Given the description of an element on the screen output the (x, y) to click on. 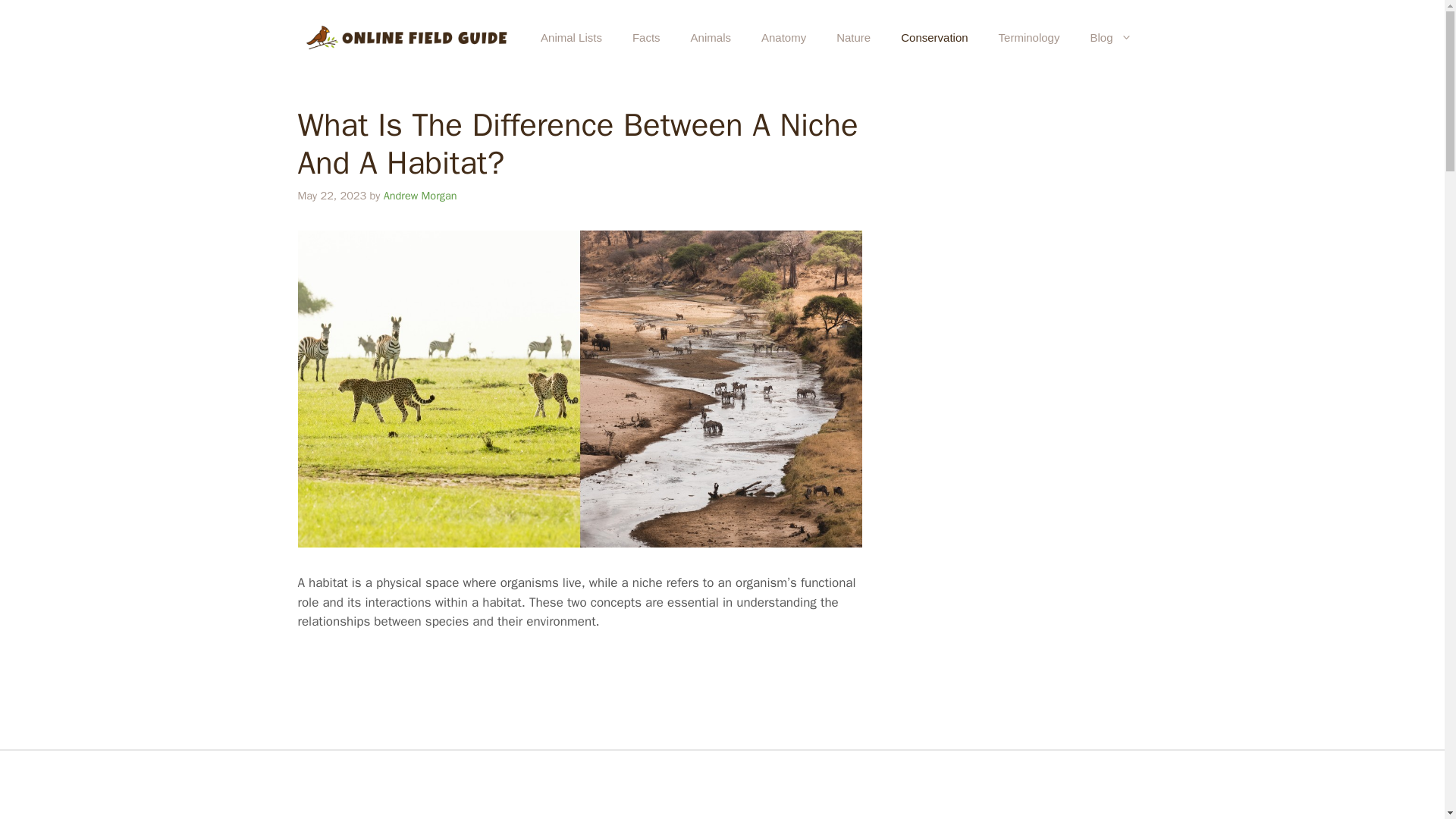
Andrew Morgan (420, 195)
Facts (646, 37)
Animal Lists (571, 37)
Anatomy (783, 37)
Blog (1110, 37)
View all posts by Andrew Morgan (420, 195)
Conservation (933, 37)
Nature (853, 37)
Animals (710, 37)
Terminology (1029, 37)
